Given the description of an element on the screen output the (x, y) to click on. 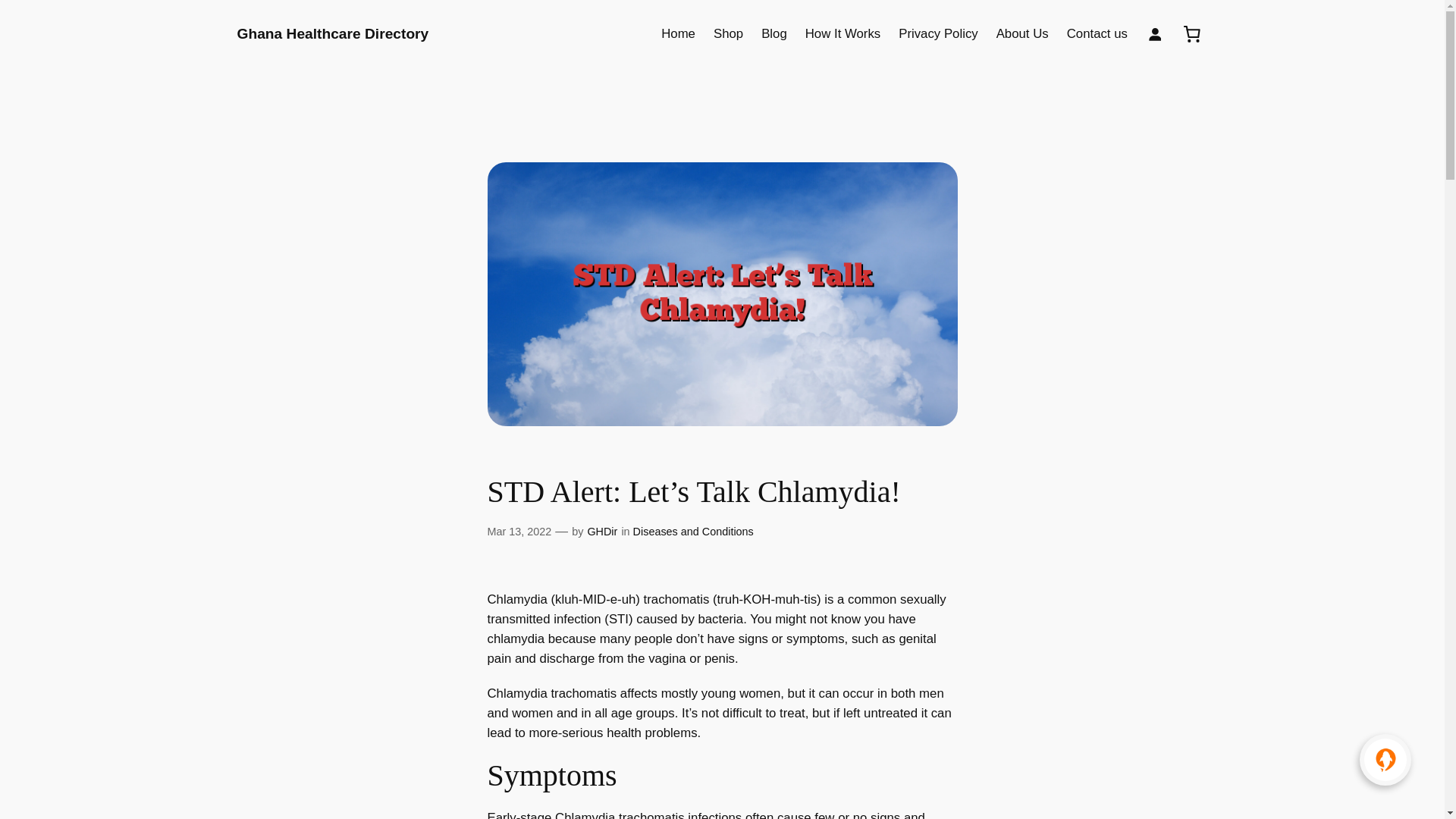
Mar 13, 2022 (518, 531)
Contact us (1096, 34)
GHDir (601, 531)
About Us (1021, 34)
Blog (774, 34)
Diseases and Conditions (693, 531)
Home (678, 34)
How It Works (842, 34)
Ghana Healthcare Directory (331, 33)
Privacy Policy (937, 34)
Shop (727, 34)
